Given the description of an element on the screen output the (x, y) to click on. 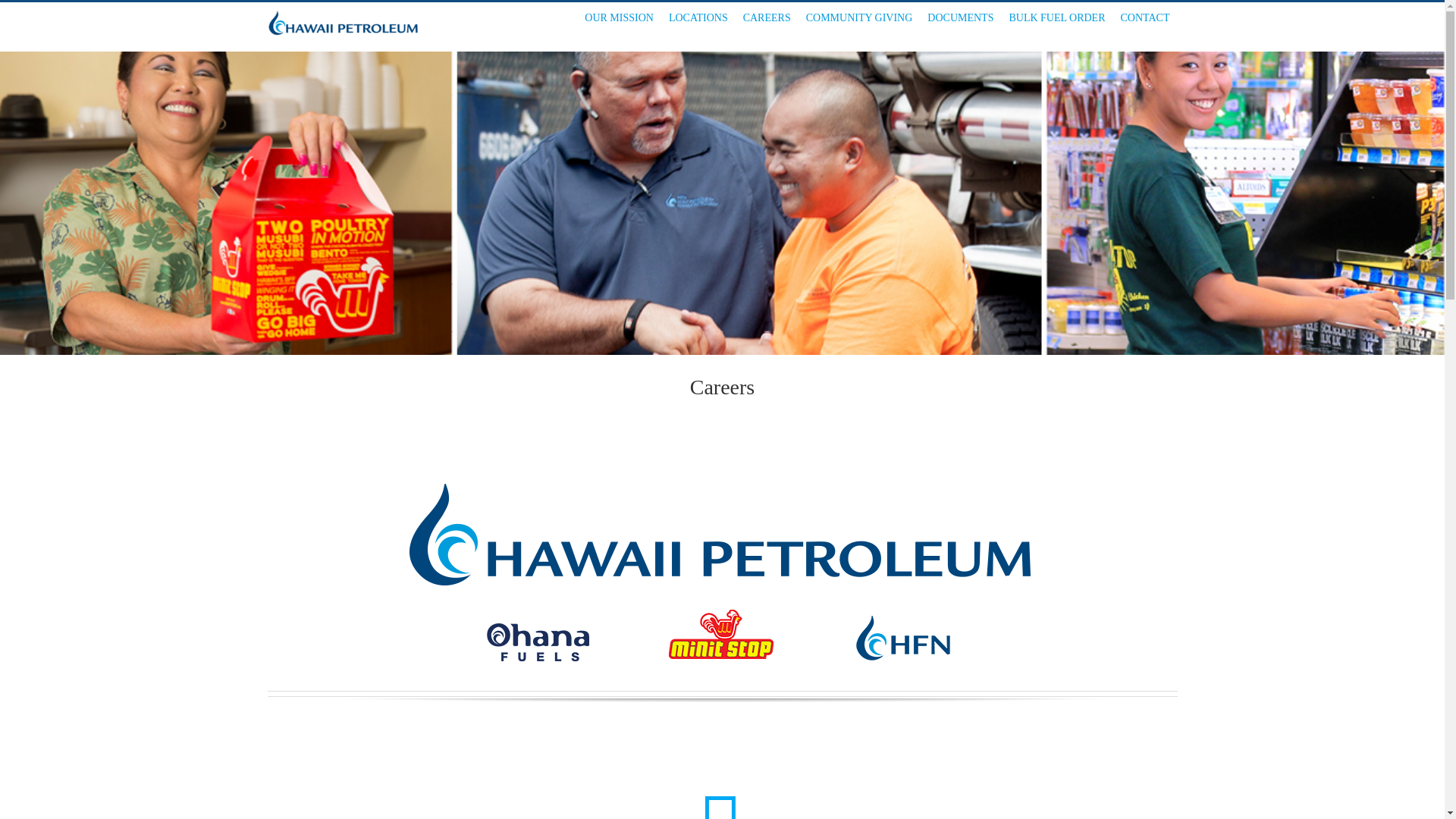
COMMUNITY GIVING (858, 18)
BULK FUEL ORDER (1056, 18)
CONTACT (1145, 18)
LOCATIONS (698, 18)
DOCUMENTS (960, 18)
Join Our Team (721, 793)
OUR MISSION (618, 18)
CAREERS (766, 18)
